Given the description of an element on the screen output the (x, y) to click on. 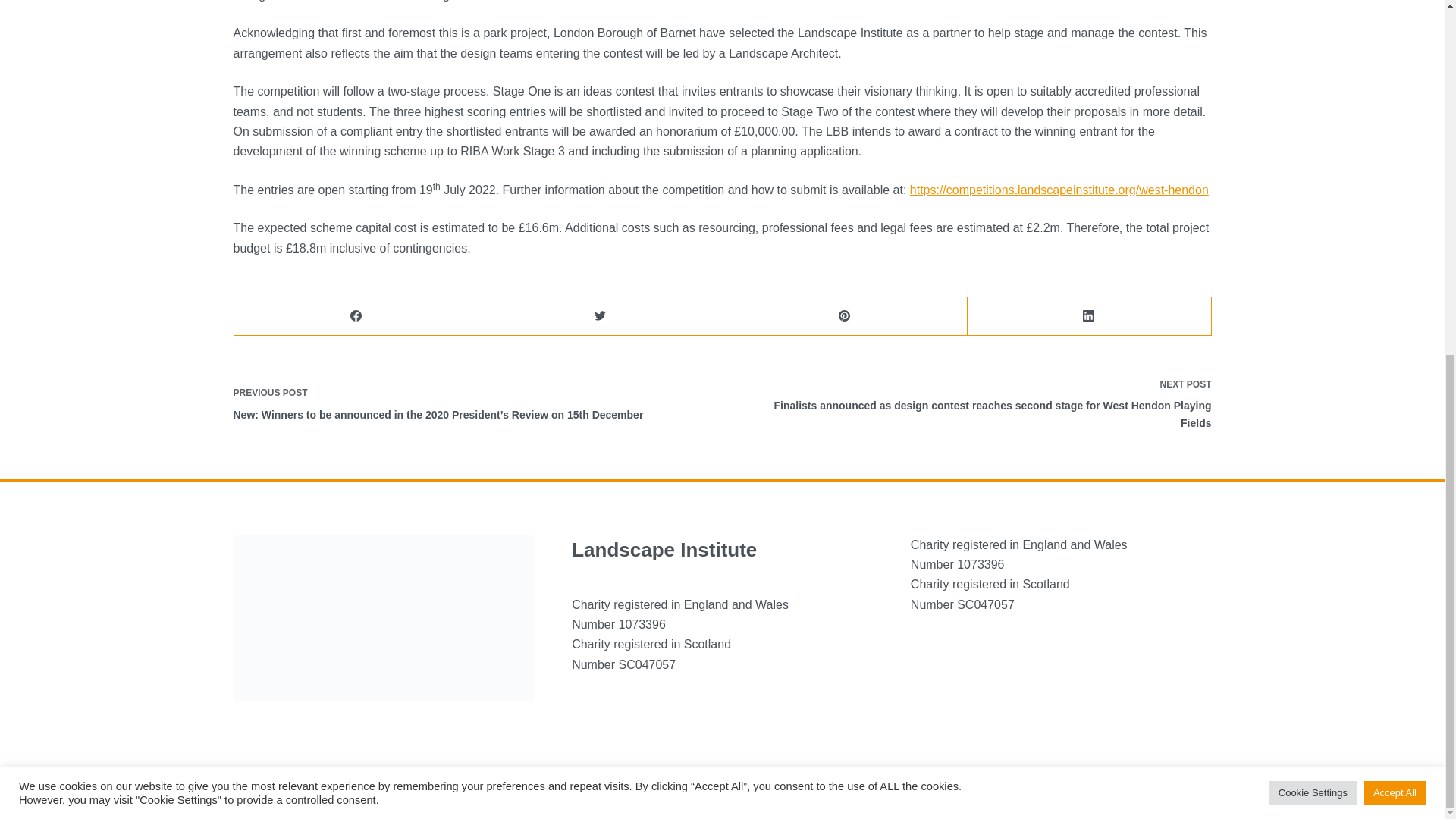
Cookie Settings (1312, 171)
Accept All (1394, 171)
